Given the description of an element on the screen output the (x, y) to click on. 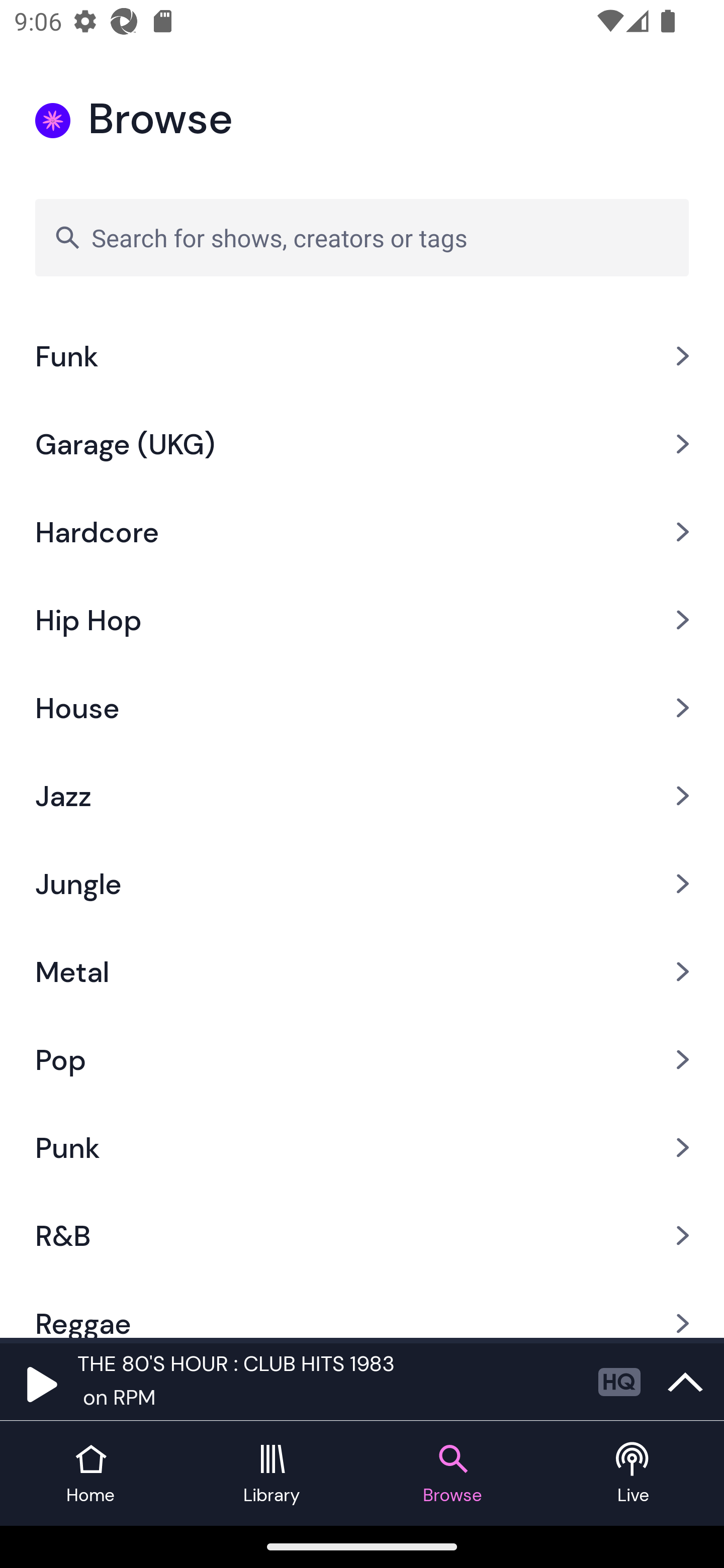
Search for shows, creators or tags (361, 237)
Funk (361, 355)
Garage (UKG) (361, 443)
Hardcore (361, 531)
Hip Hop (361, 619)
House (361, 707)
Jazz (361, 795)
Jungle (361, 884)
Metal (361, 972)
Pop (361, 1059)
Punk (361, 1147)
R&B (361, 1235)
Reggae (361, 1308)
Home tab Home (90, 1473)
Library tab Library (271, 1473)
Browse tab Browse (452, 1473)
Live tab Live (633, 1473)
